Given the description of an element on the screen output the (x, y) to click on. 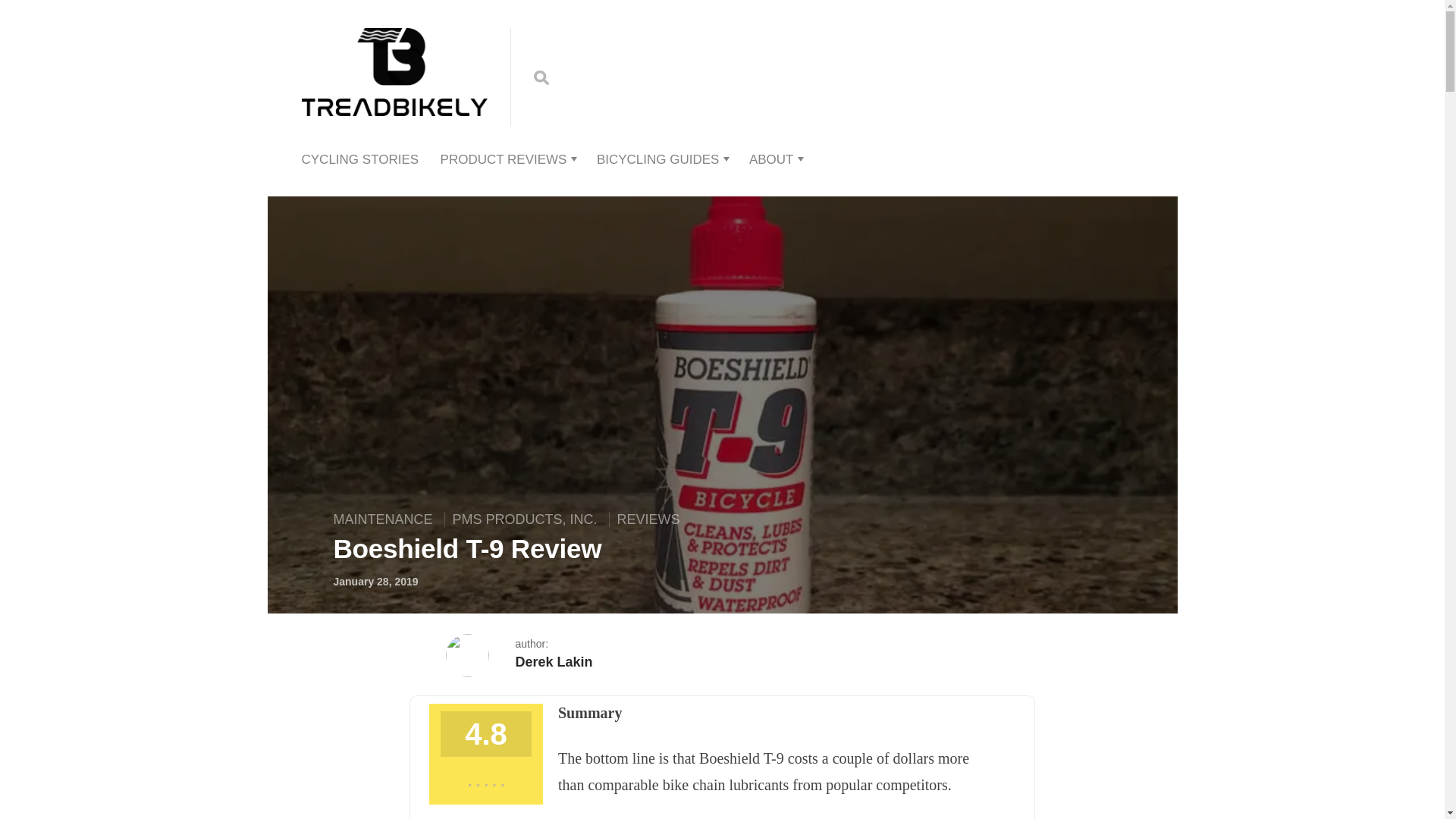
TreadBikely (394, 100)
PRODUCT REVIEWS (504, 159)
Reviews (647, 518)
CYCLING STORIES (360, 159)
Maintenance (387, 518)
Posts by Derek Lakin (553, 661)
PMS Products, Inc. (524, 518)
